Given the description of an element on the screen output the (x, y) to click on. 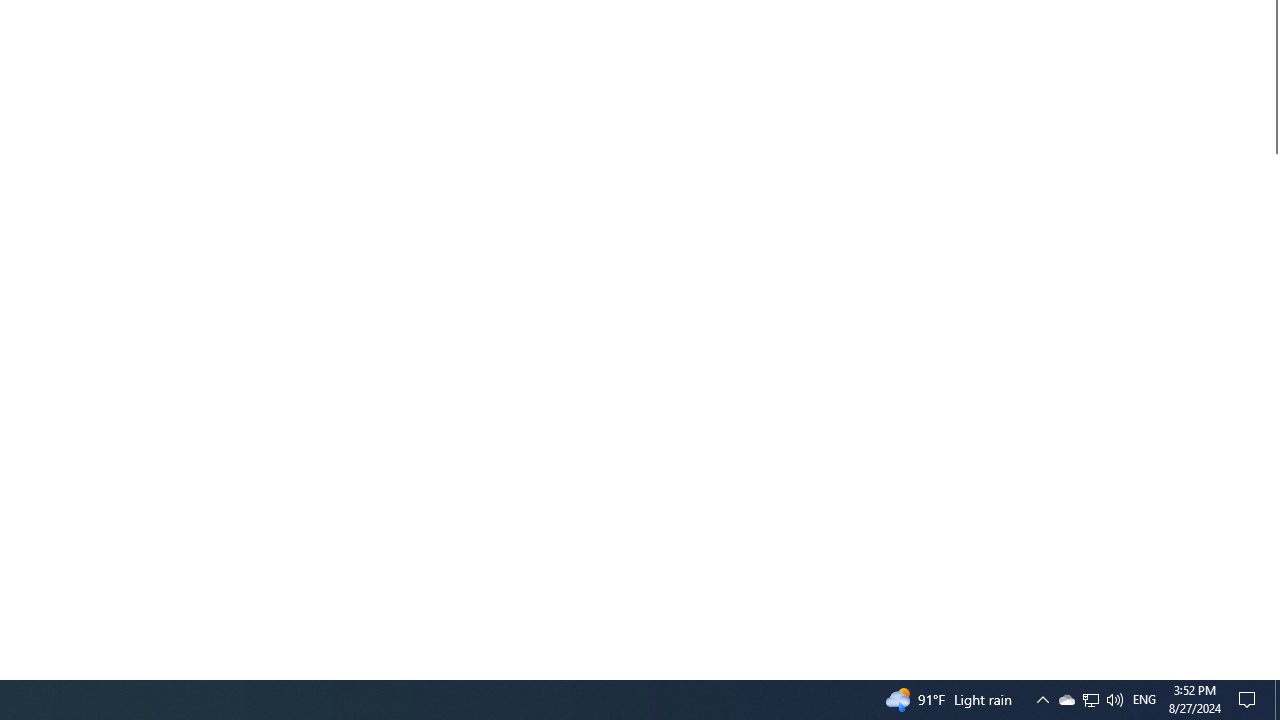
Q2790: 100% (1114, 699)
Action Center, No new notifications (1091, 699)
Tray Input Indicator - English (United States) (1250, 699)
User Promoted Notification Area (1144, 699)
Notification Chevron (1090, 699)
Vertical Small Increase (1066, 699)
Vertical Large Increase (1042, 699)
Show desktop (1272, 671)
